Given the description of an element on the screen output the (x, y) to click on. 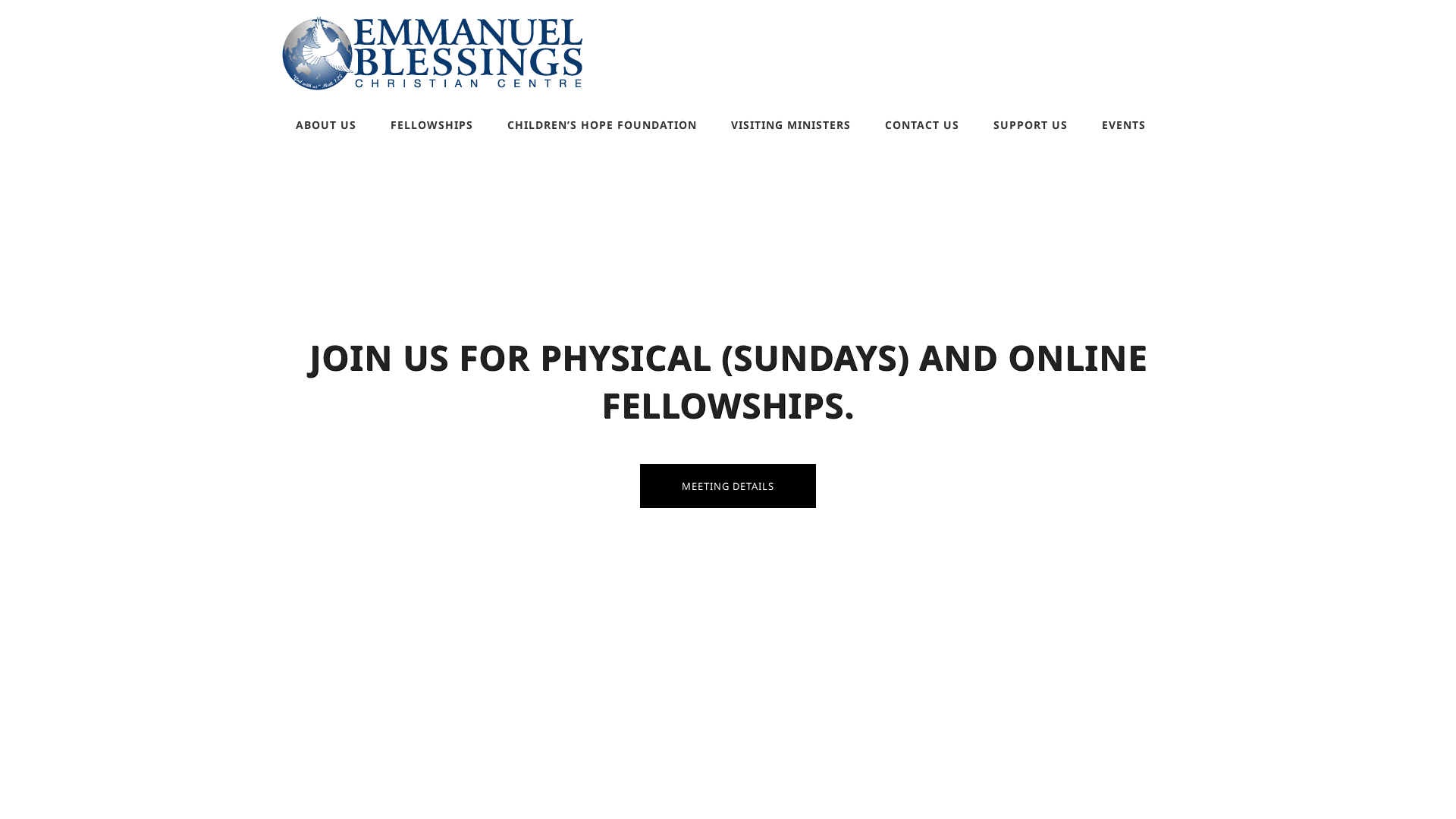
FELLOWSHIPS Element type: text (431, 125)
CONTACT US Element type: text (921, 125)
MEETING DETAILS Element type: text (727, 486)
VISITING MINISTERS Element type: text (790, 125)
EVENTS Element type: text (1123, 125)
SUPPORT US Element type: text (1030, 125)
ABOUT US Element type: text (325, 125)
